Given the description of an element on the screen output the (x, y) to click on. 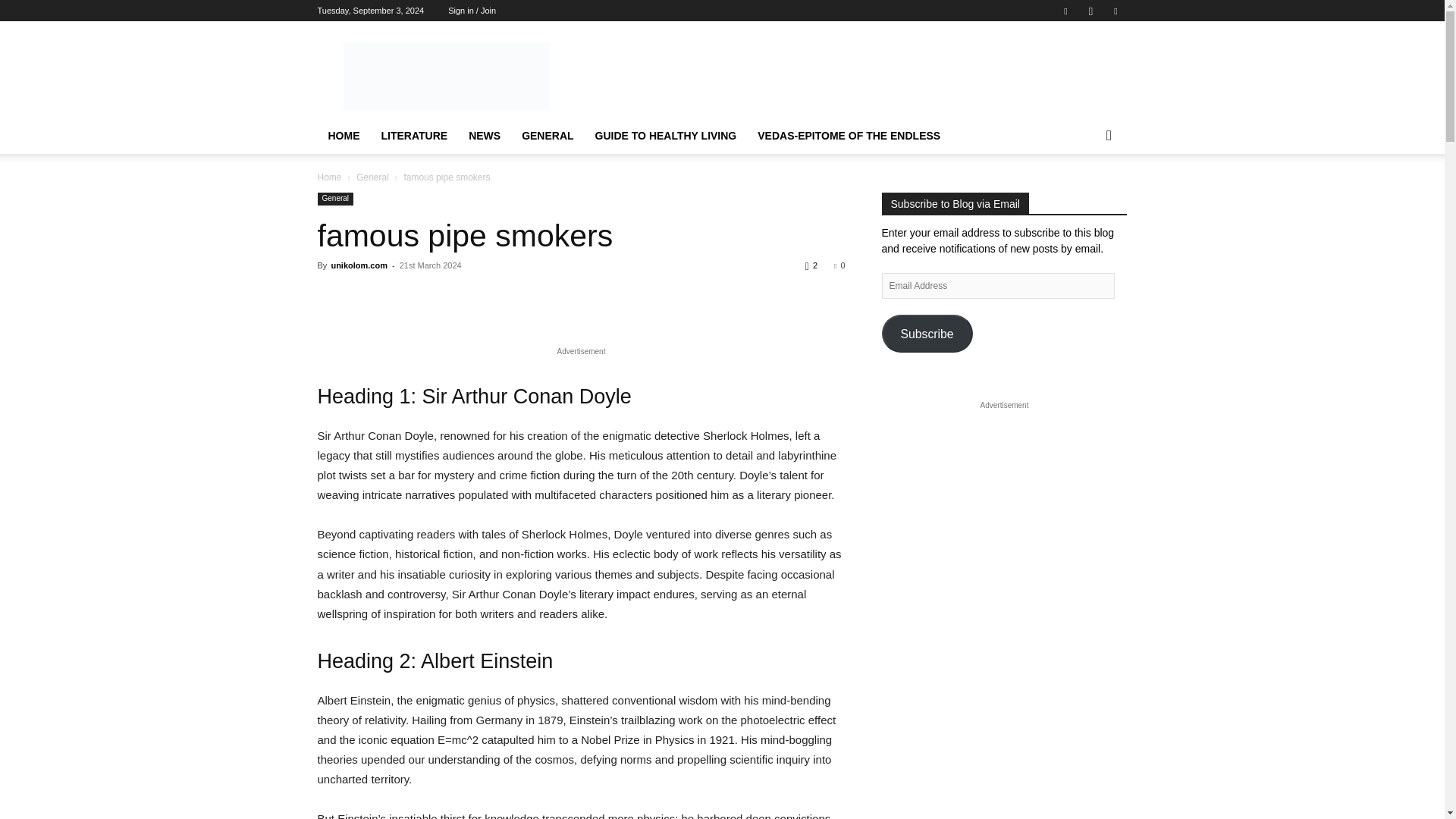
Mail (1114, 10)
pen down your thoughts (445, 76)
Instagram (1090, 10)
Facebook (1065, 10)
